Given the description of an element on the screen output the (x, y) to click on. 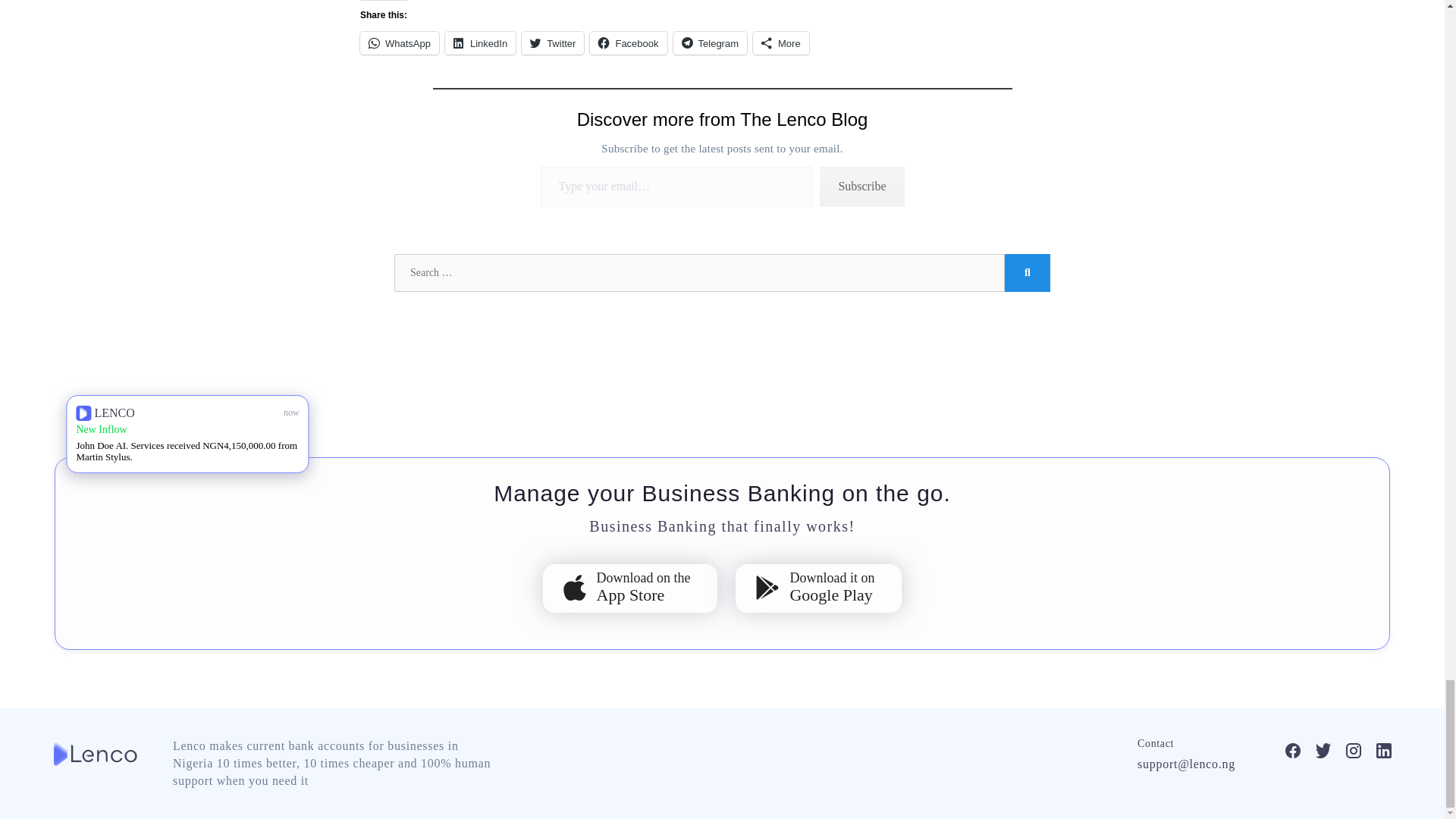
Telegram (709, 42)
Click to share on Facebook (627, 42)
Please fill in this field. (676, 187)
WhatsApp (399, 42)
More (780, 42)
Facebook (627, 42)
Twitter (552, 42)
Click to share on Twitter (552, 42)
Click to share on WhatsApp (399, 42)
Click to share on Telegram (709, 42)
